Given the description of an element on the screen output the (x, y) to click on. 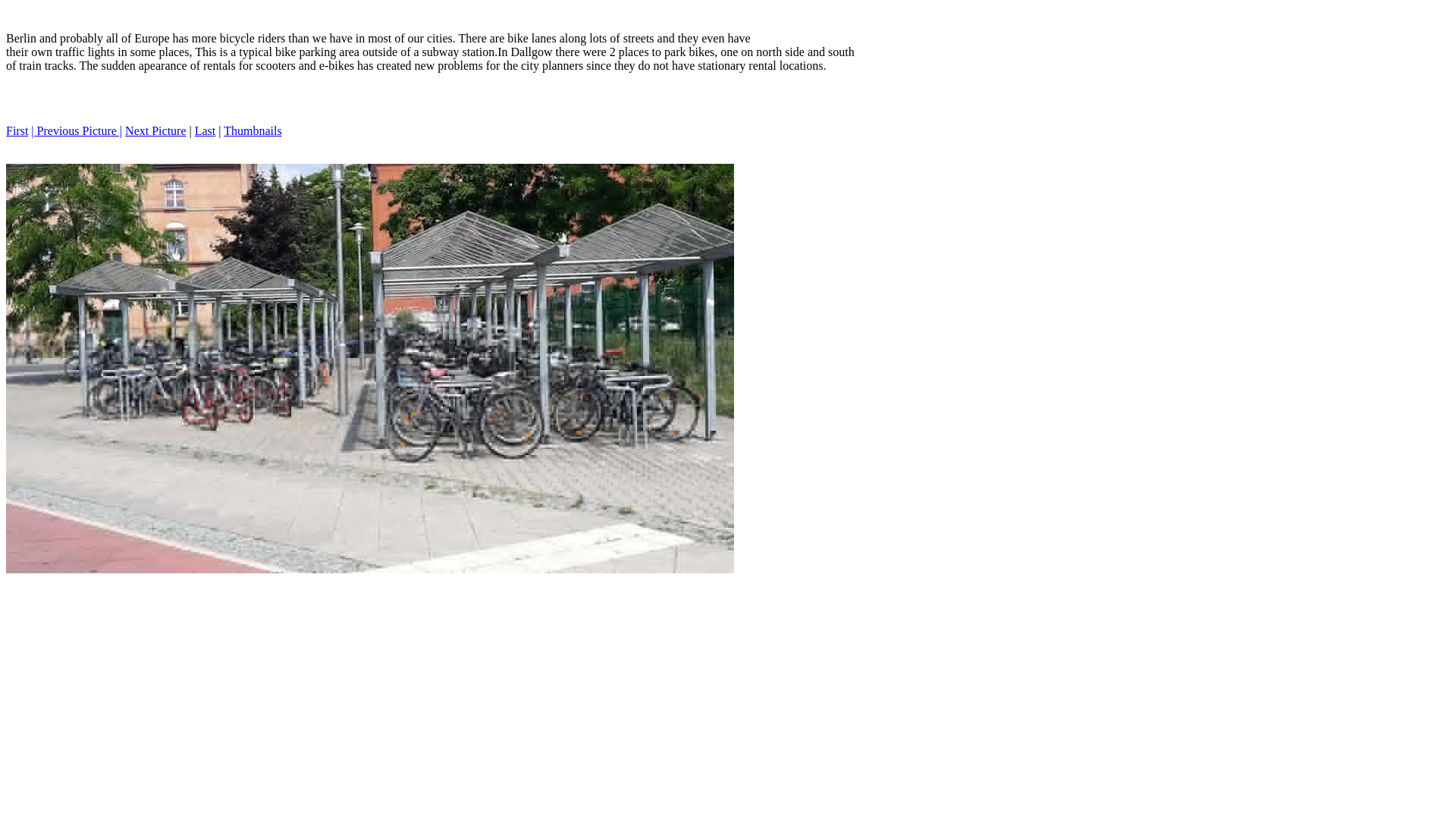
Thumbnails (252, 130)
Next Picture (155, 130)
First (16, 130)
Last (205, 130)
